Given the description of an element on the screen output the (x, y) to click on. 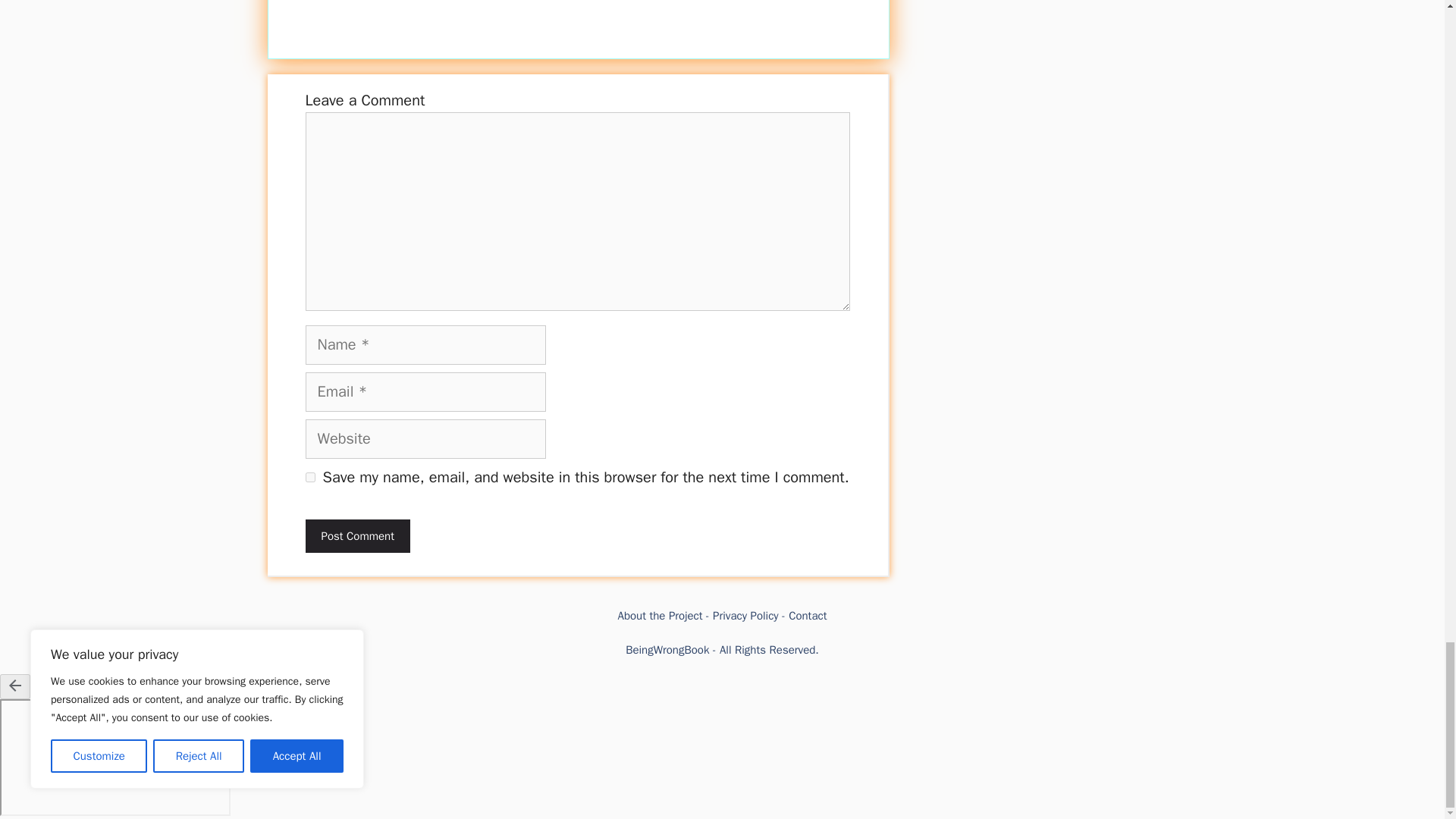
Post Comment (356, 536)
yes (309, 477)
Advertisement (577, 18)
Post Comment (356, 536)
